Given the description of an element on the screen output the (x, y) to click on. 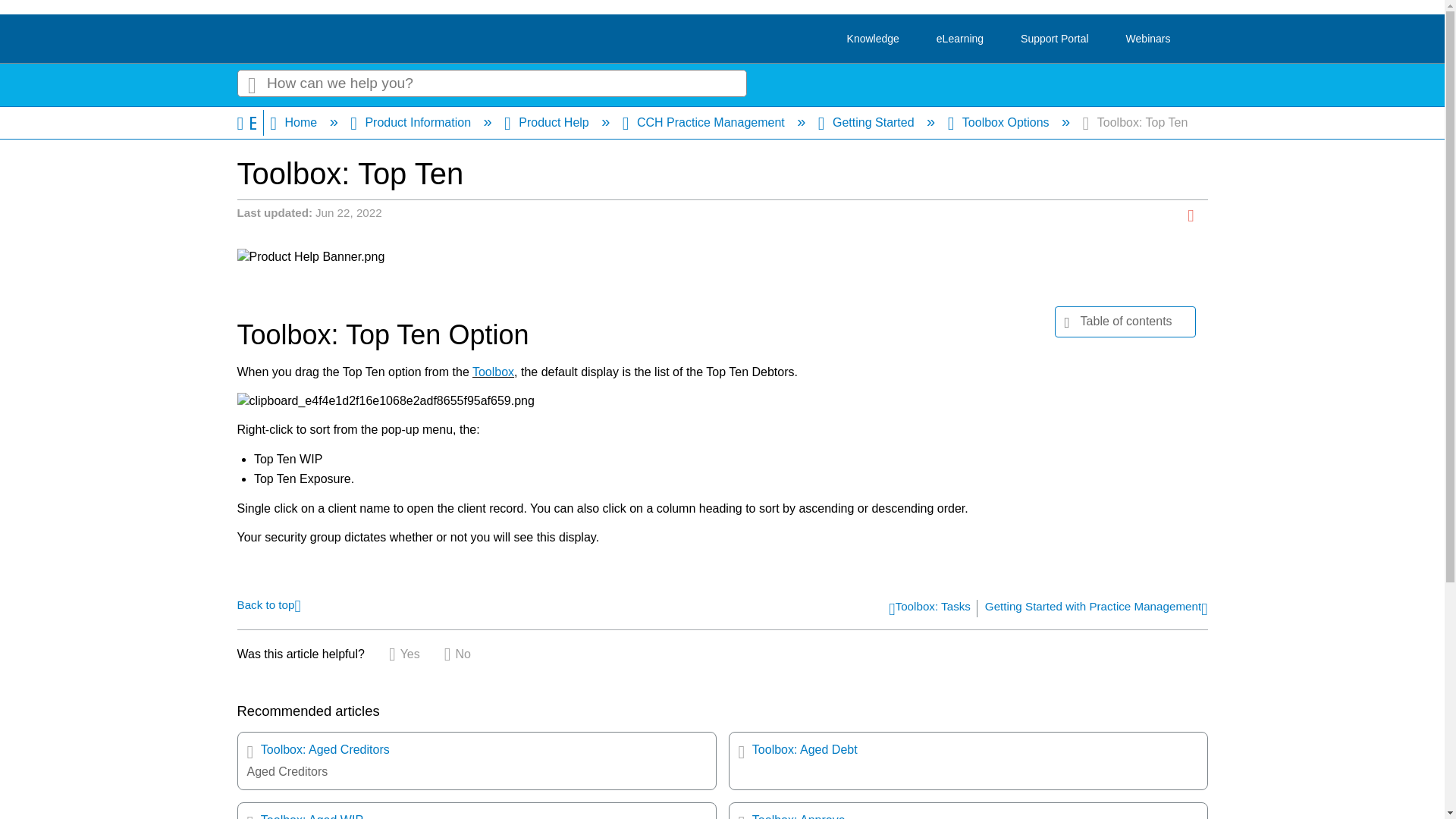
Toolbox (492, 371)
eLearning (960, 38)
Home (294, 122)
No (457, 654)
Product Information (412, 122)
Back to top (267, 603)
Getting Started with Practice Management (1096, 608)
Webinars (1147, 38)
Getting Started with Practice Management (1096, 608)
Search (250, 84)
